Given the description of an element on the screen output the (x, y) to click on. 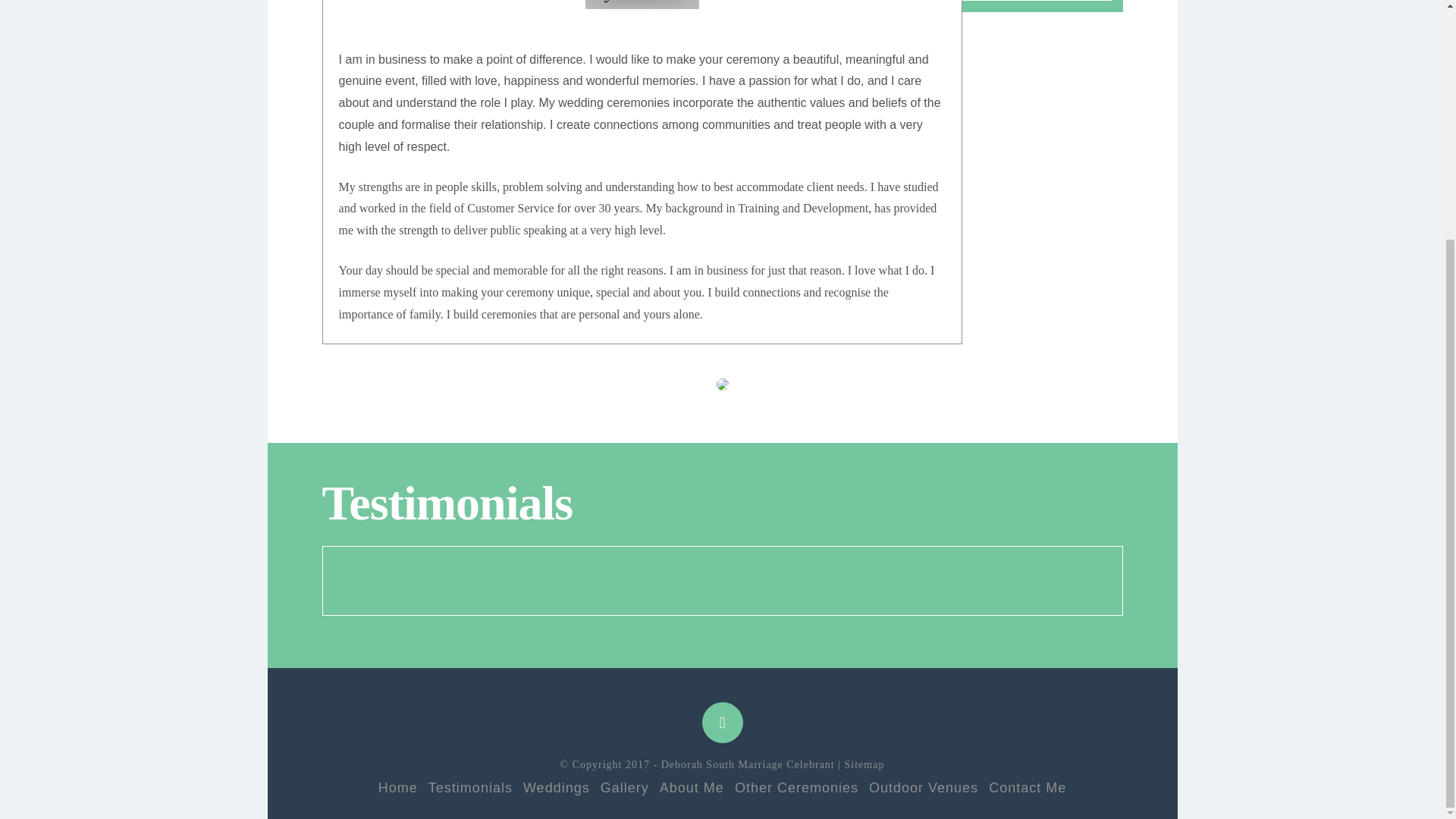
Home (397, 787)
Sitemap (864, 764)
Gallery (624, 787)
Other Ceremonies (797, 787)
Contact Me (1026, 787)
Weddings (555, 787)
Facebook (721, 721)
Outdoor Venues (923, 787)
About Me (691, 787)
Testimonials (470, 787)
